Given the description of an element on the screen output the (x, y) to click on. 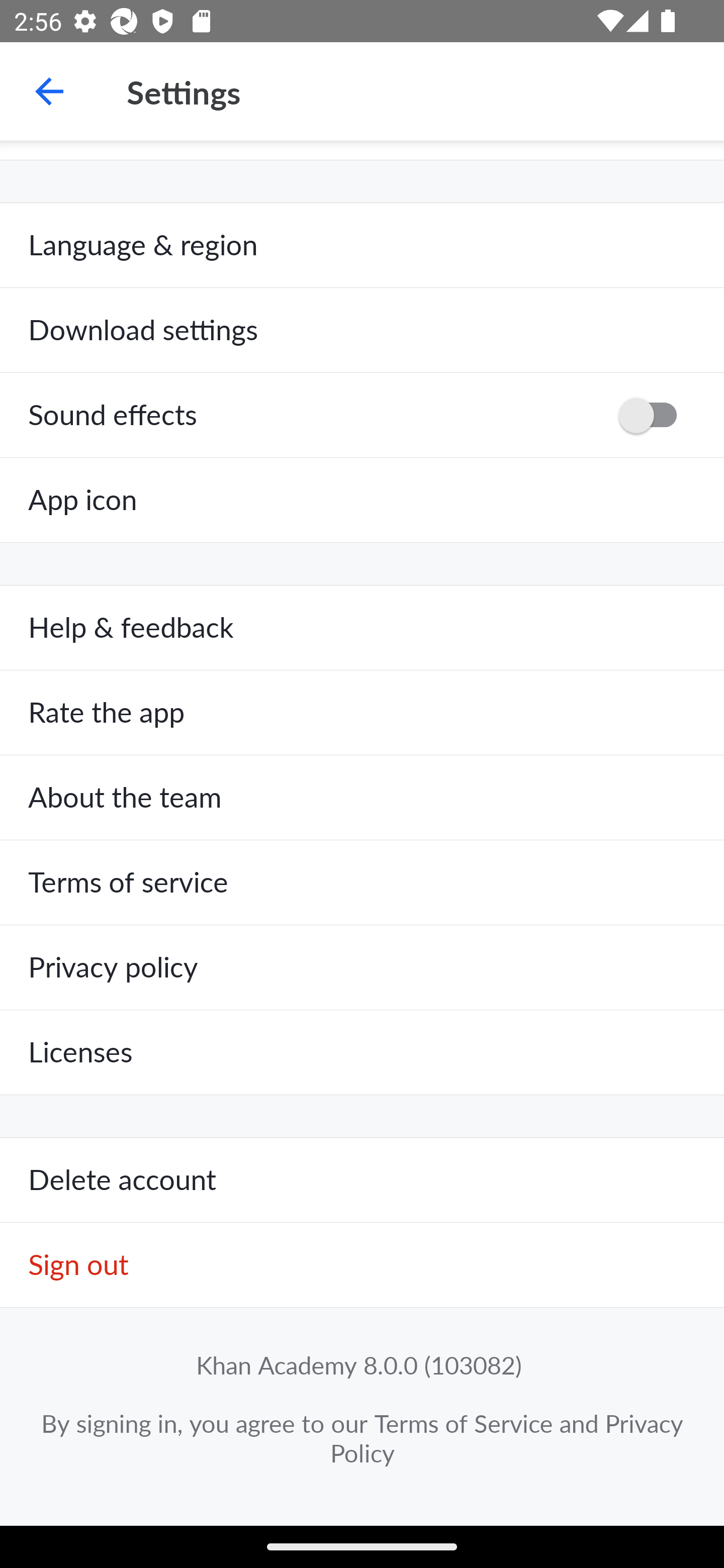
Navigate up (49, 91)
Language & region (362, 245)
Download settings (362, 330)
OFF (653, 415)
App icon (362, 499)
Help & feedback (362, 627)
Rate the app (362, 713)
About the team (362, 797)
Terms of service (362, 882)
Privacy policy (362, 967)
Licenses (362, 1051)
Delete account (362, 1180)
Sign out (362, 1265)
